Given the description of an element on the screen output the (x, y) to click on. 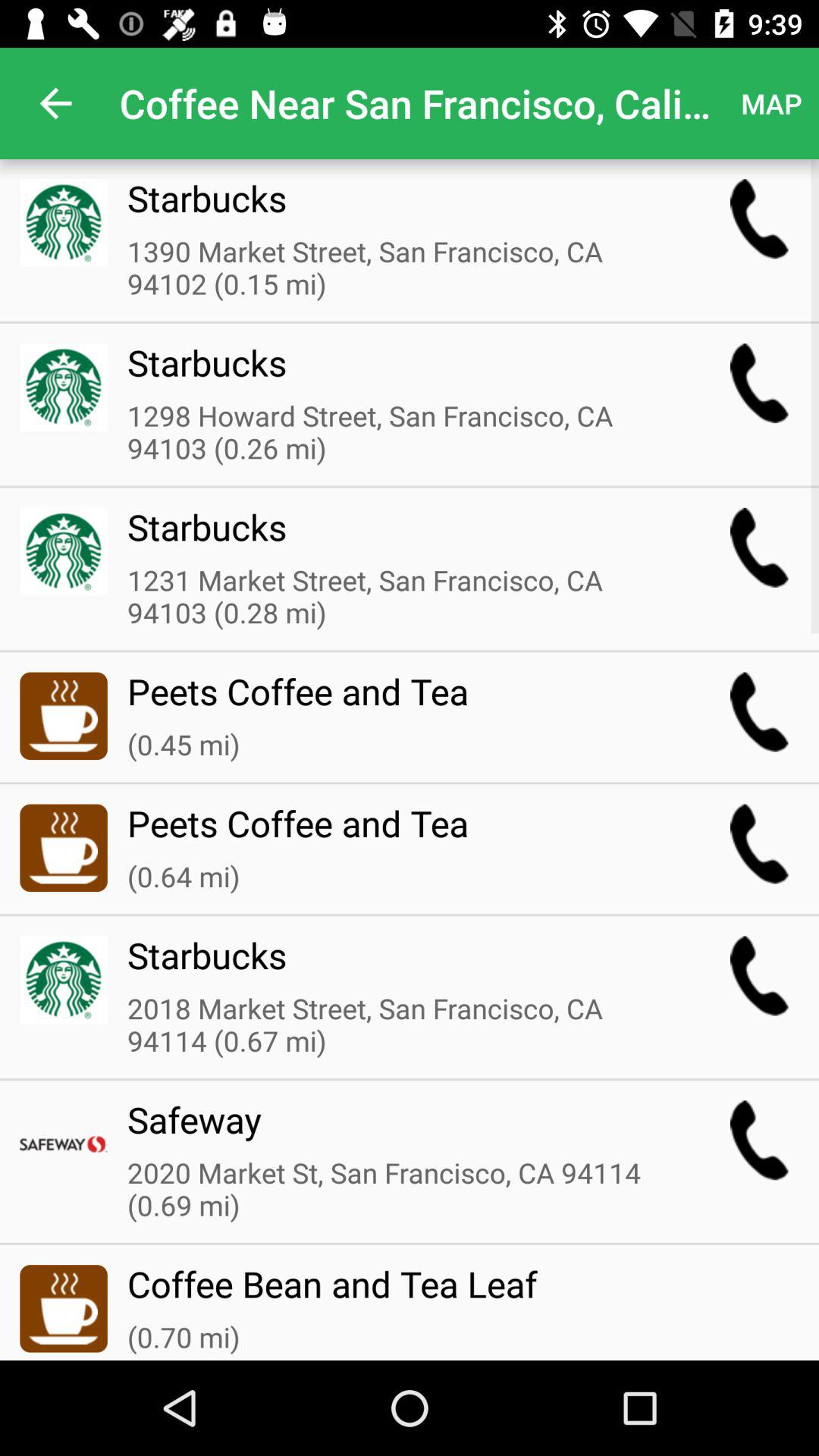
jump to the 1298 howard street item (398, 432)
